Given the description of an element on the screen output the (x, y) to click on. 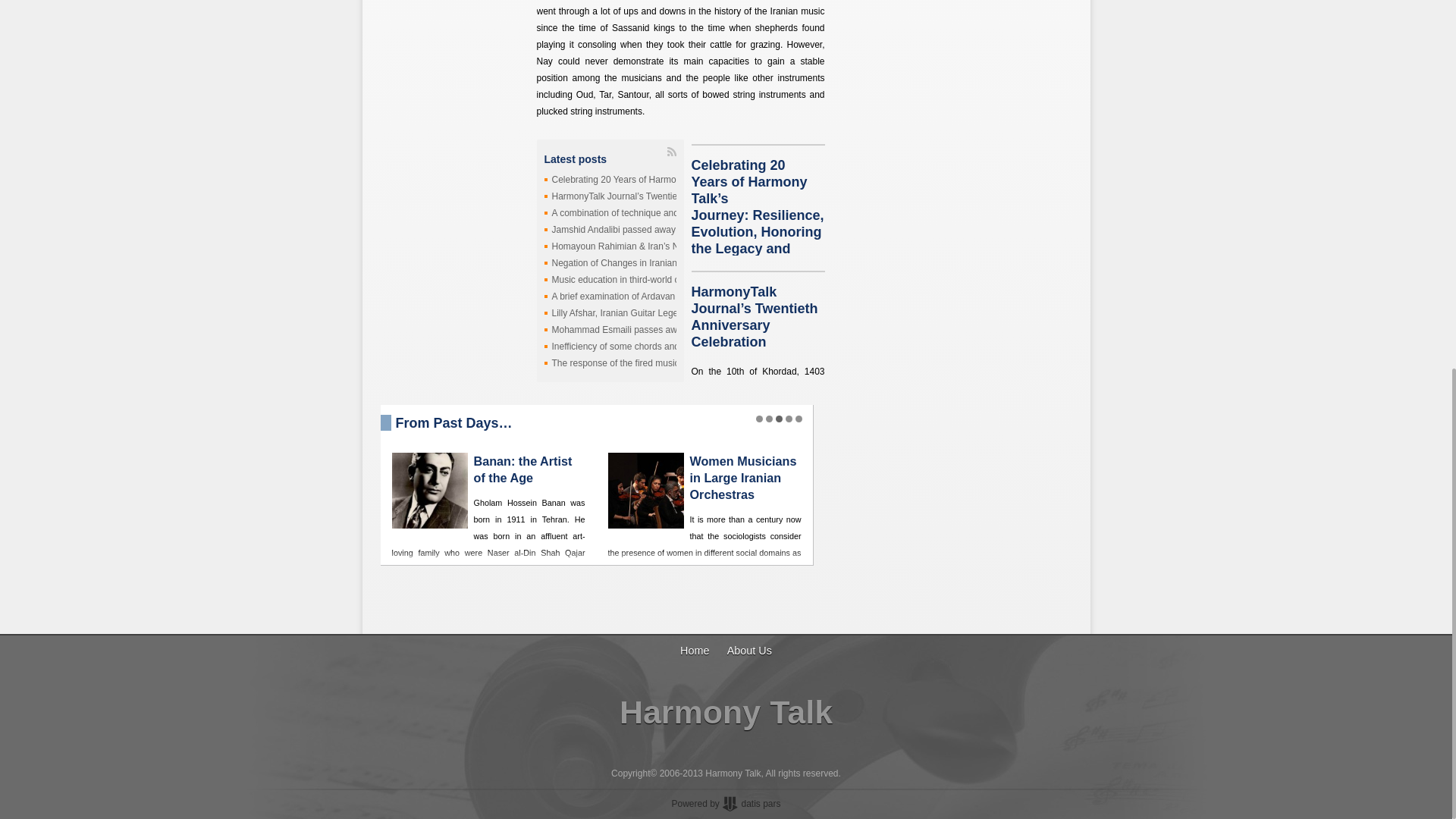
Jamshid Andalibi passed away! (614, 229)
Lilly Afshar, Iranian Guitar Legend, passed away (648, 312)
Jamshid Andalibi passed away! (614, 229)
Music education in third-world countries (631, 279)
Music education in third-world countries (631, 279)
Negation of Changes in Iranian Music: Embracing Tradition (670, 262)
Mohammad Esmaili passes away (619, 329)
Lilly Afshar, Iranian Guitar Legend, passed away (648, 312)
Harmony Talk latest posts (671, 151)
Negation of Changes in Iranian Music: Embracing Tradition (670, 262)
